Given the description of an element on the screen output the (x, y) to click on. 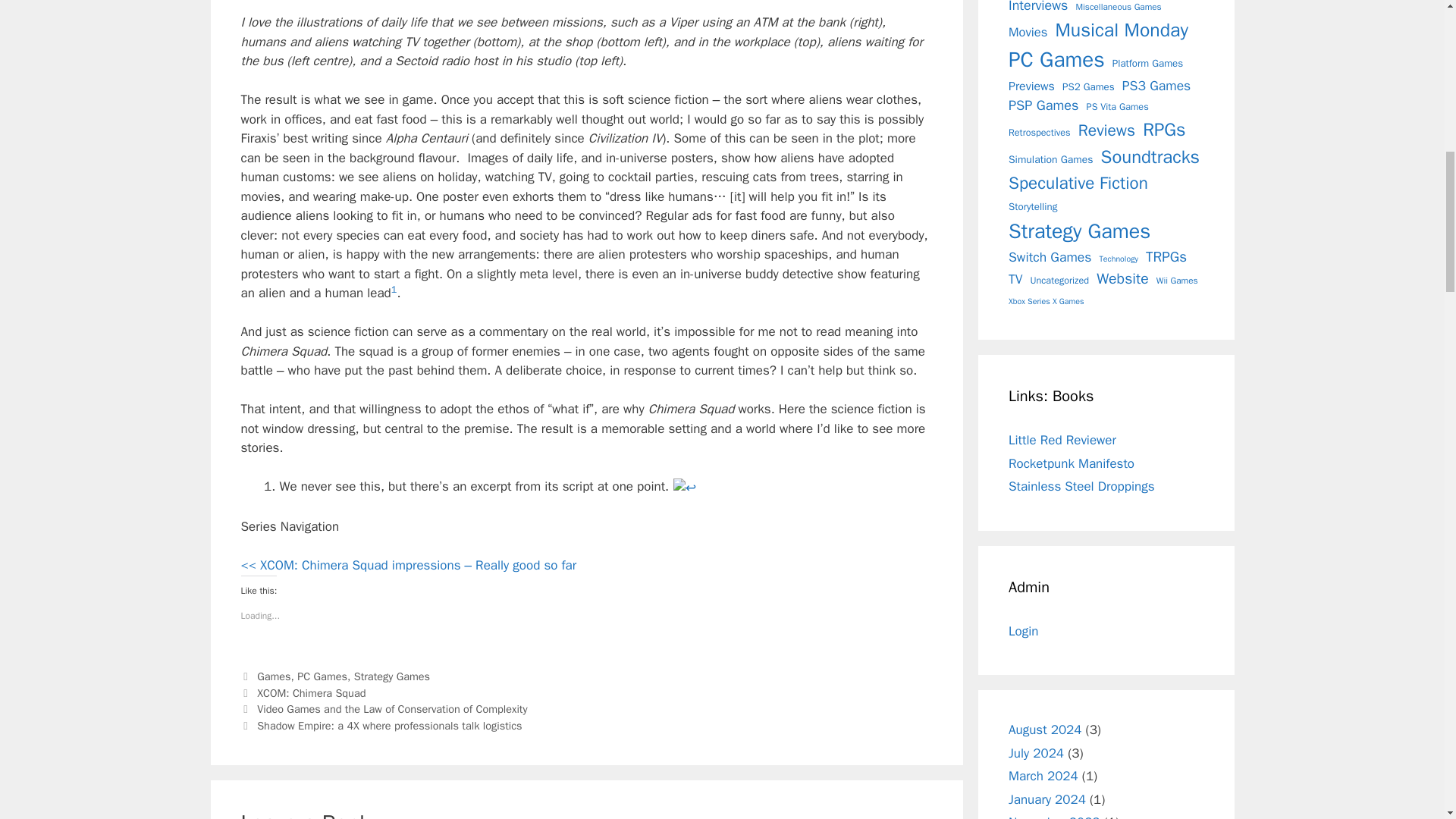
Games (273, 676)
PC Games (322, 676)
Shadow Empire: a 4X where professionals talk logistics (389, 725)
Video Games and the Law of Conservation of Complexity (392, 708)
Another fine science fiction blog (1081, 486)
Strategy Games (391, 676)
XCOM: Chimera Squad (311, 693)
